Given the description of an element on the screen output the (x, y) to click on. 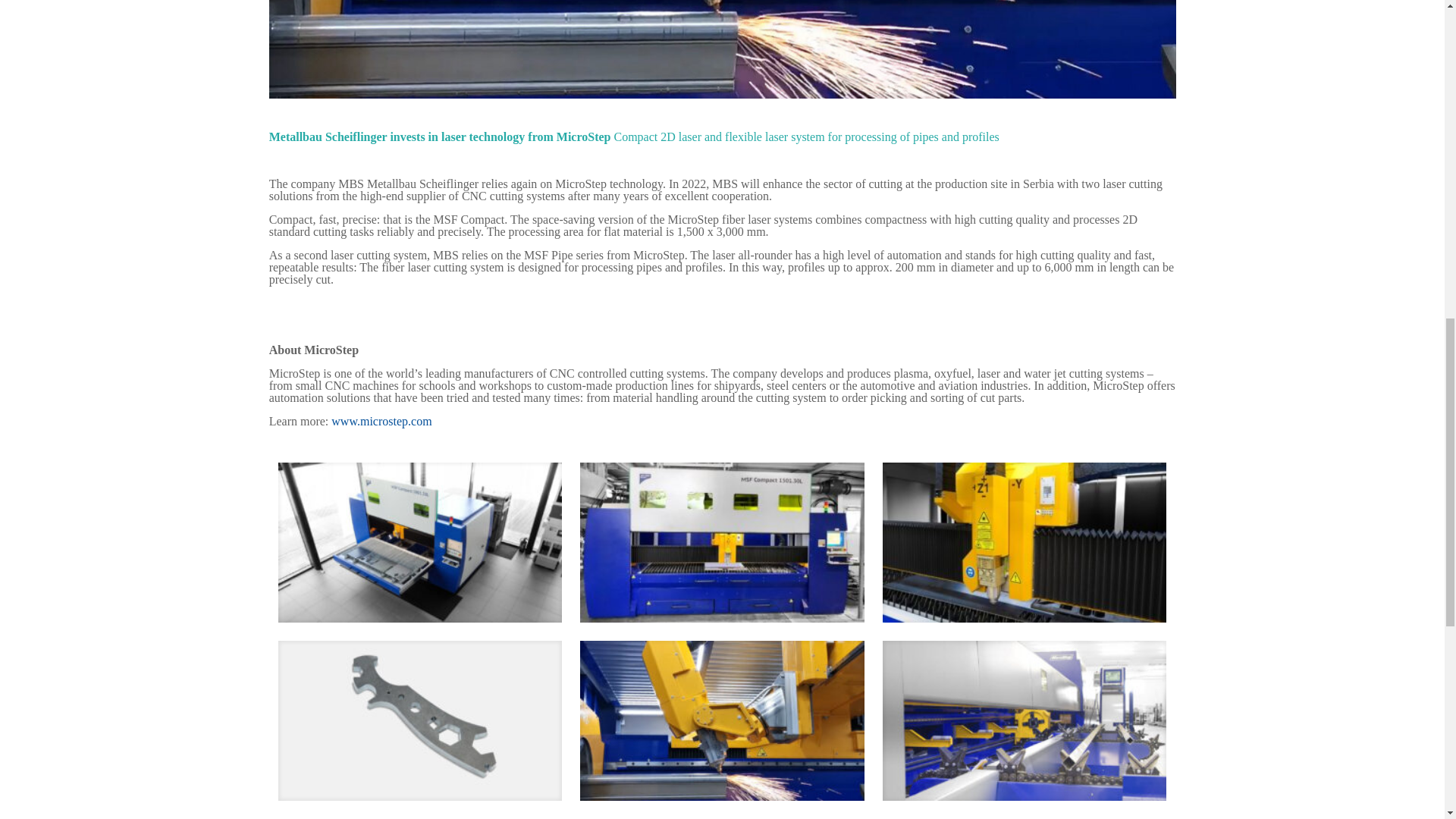
www.microstep.com (380, 420)
